Given the description of an element on the screen output the (x, y) to click on. 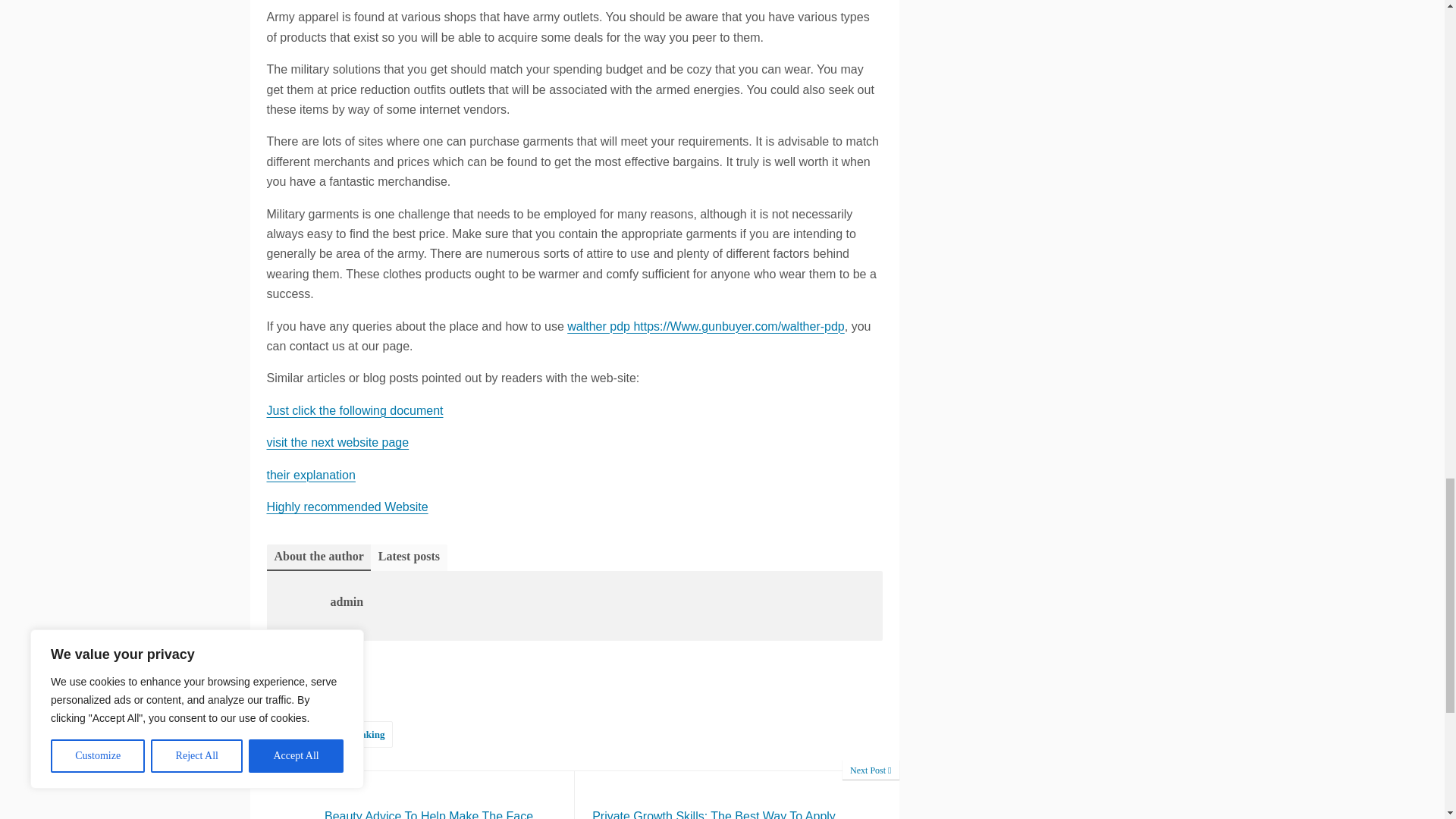
General (307, 676)
visit the next website page (337, 441)
Highly recommended Website (347, 506)
Beauty Advice To Help Make The Face Seem Wonderful (412, 794)
their explanation (310, 474)
Just click the following document (355, 410)
